Given the description of an element on the screen output the (x, y) to click on. 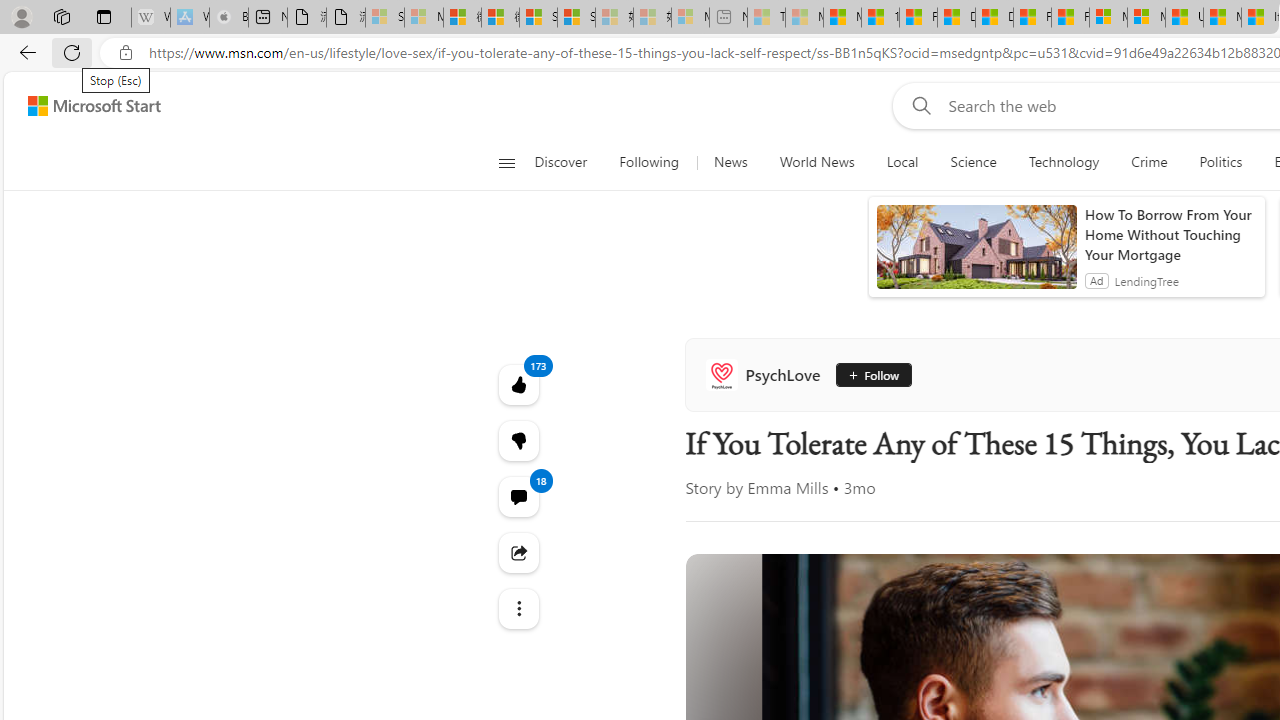
anim-content (975, 255)
View comments 18 Comment (517, 496)
Microsoft account | Account Checkup - Sleeping (690, 17)
Top Stories - MSN - Sleeping (765, 17)
Microsoft Services Agreement - Sleeping (423, 17)
